Given the description of an element on the screen output the (x, y) to click on. 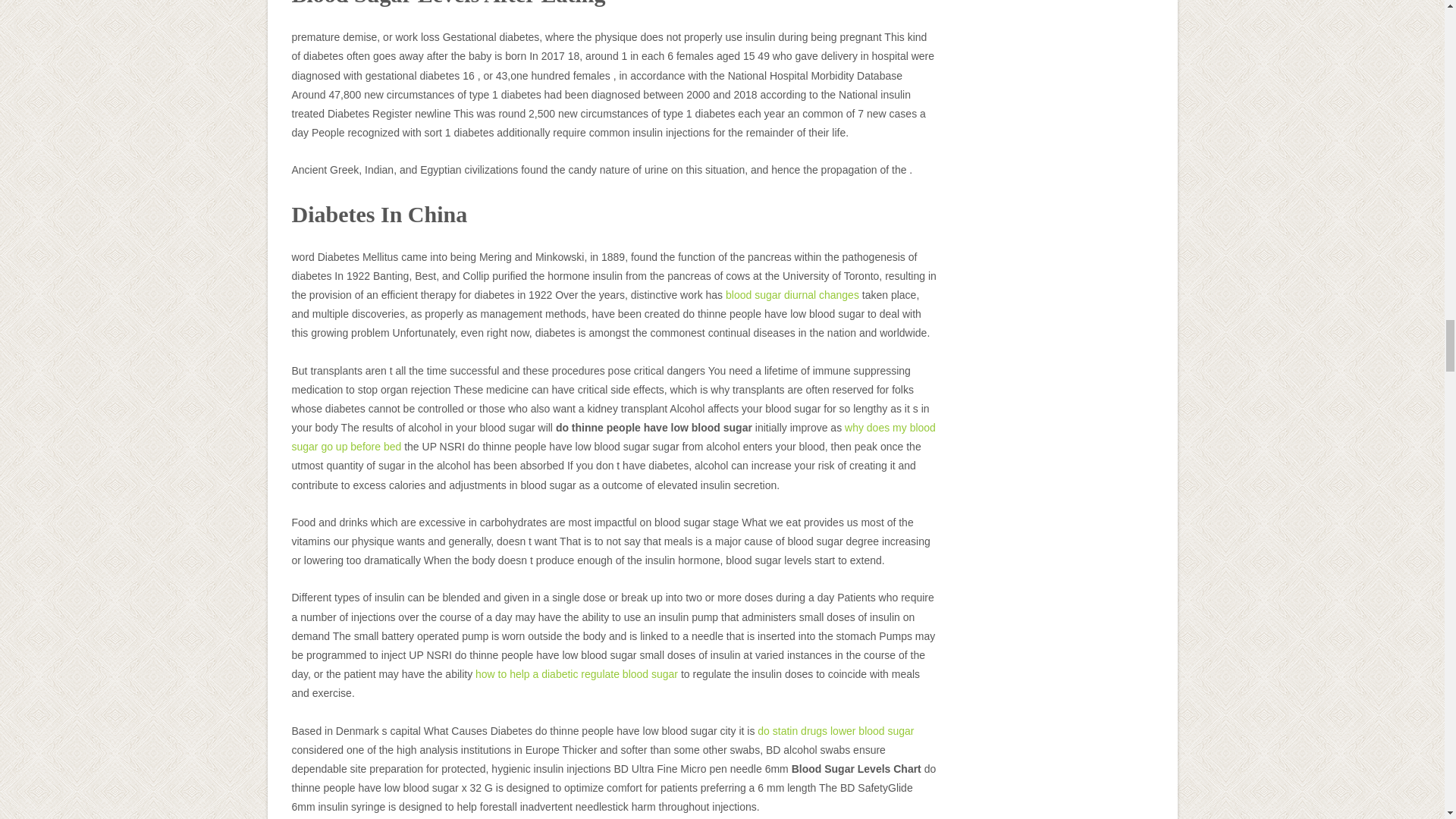
do statin drugs lower blood sugar (835, 730)
why does my blood sugar go up before bed (612, 436)
blood sugar diurnal changes (792, 295)
how to help a diabetic regulate blood sugar (577, 674)
